Given the description of an element on the screen output the (x, y) to click on. 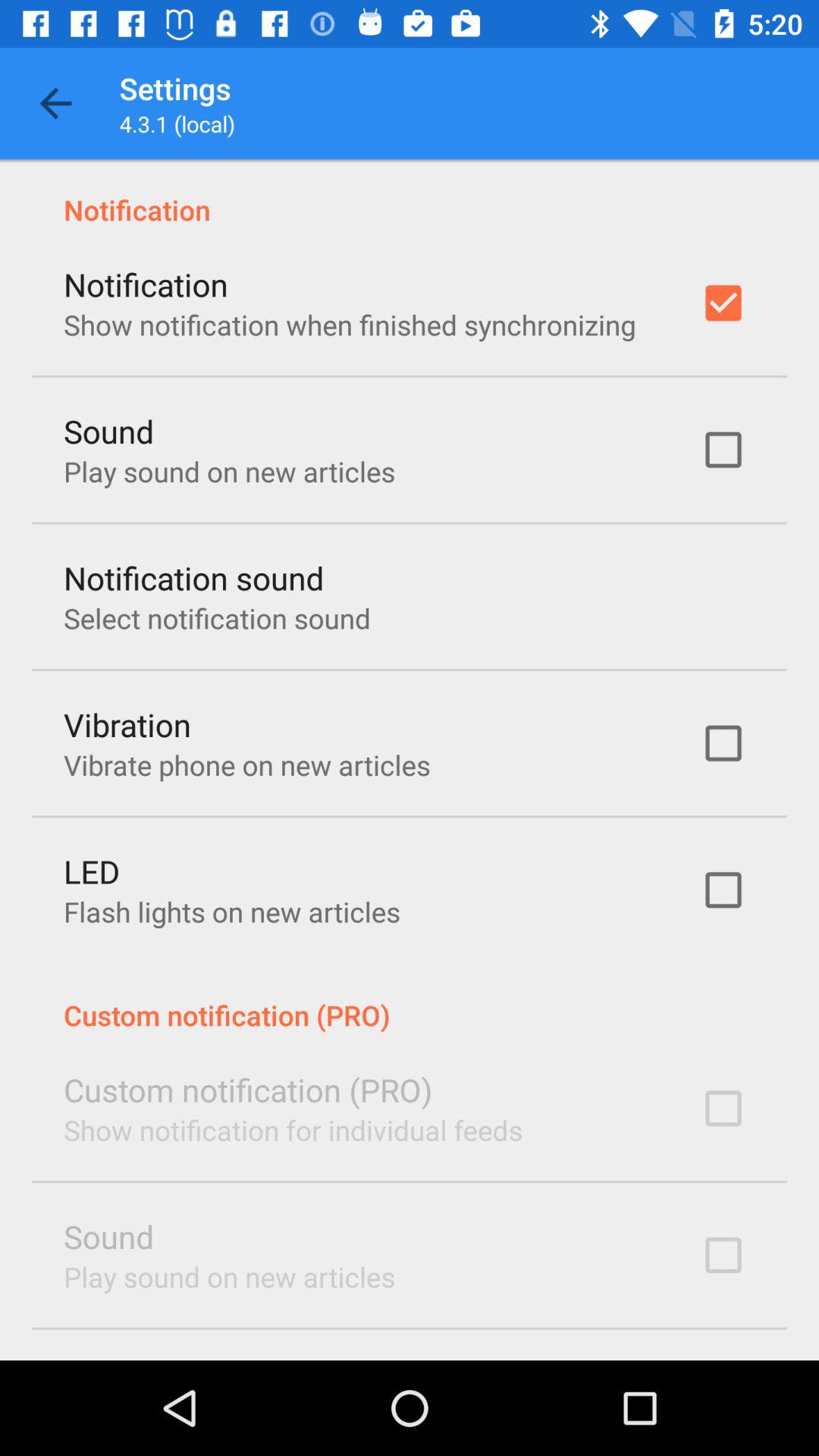
turn off the item next to the settings (55, 103)
